Given the description of an element on the screen output the (x, y) to click on. 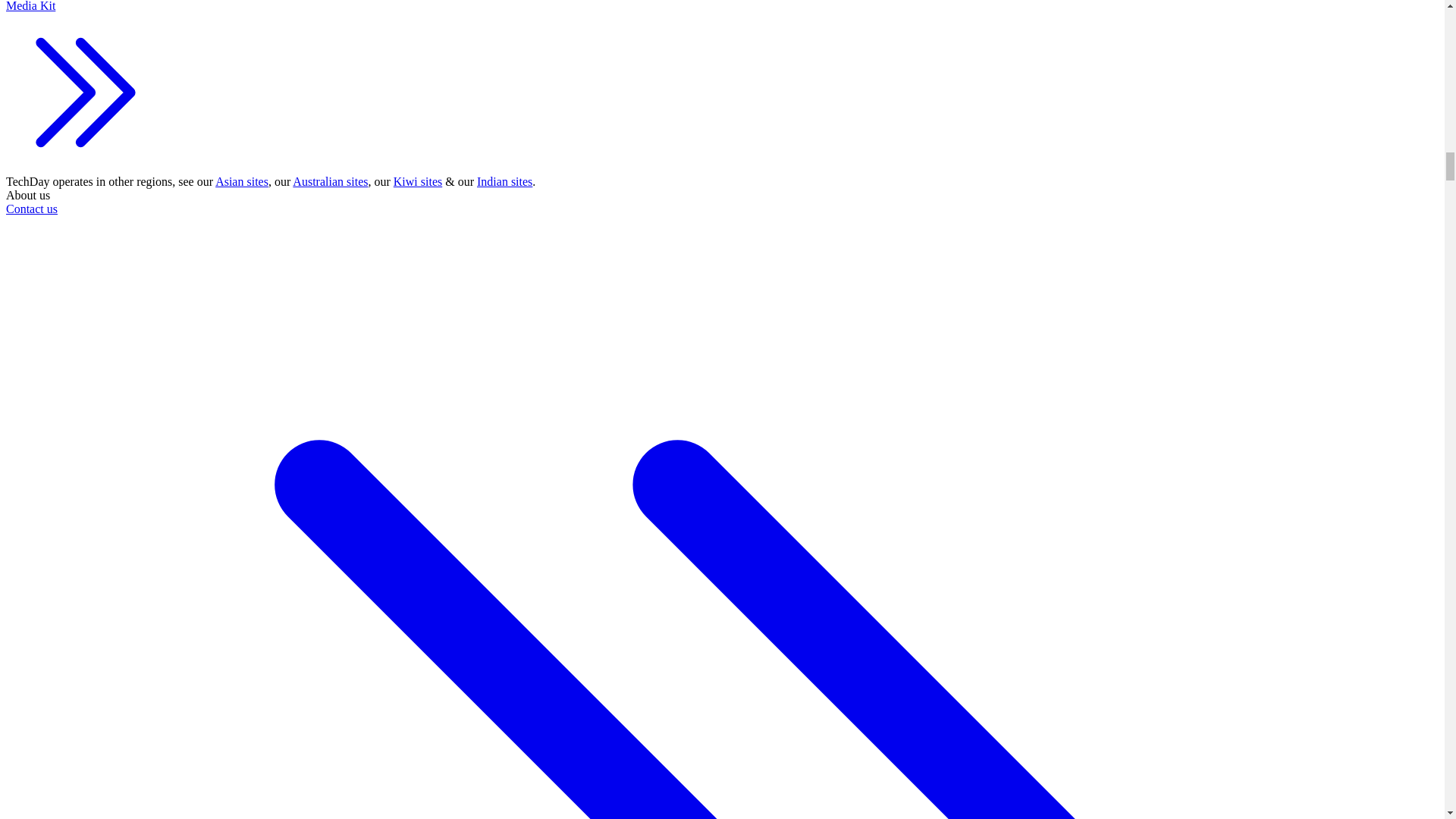
Media Kit (85, 87)
Asian sites (241, 181)
Australian sites (330, 181)
